Given the description of an element on the screen output the (x, y) to click on. 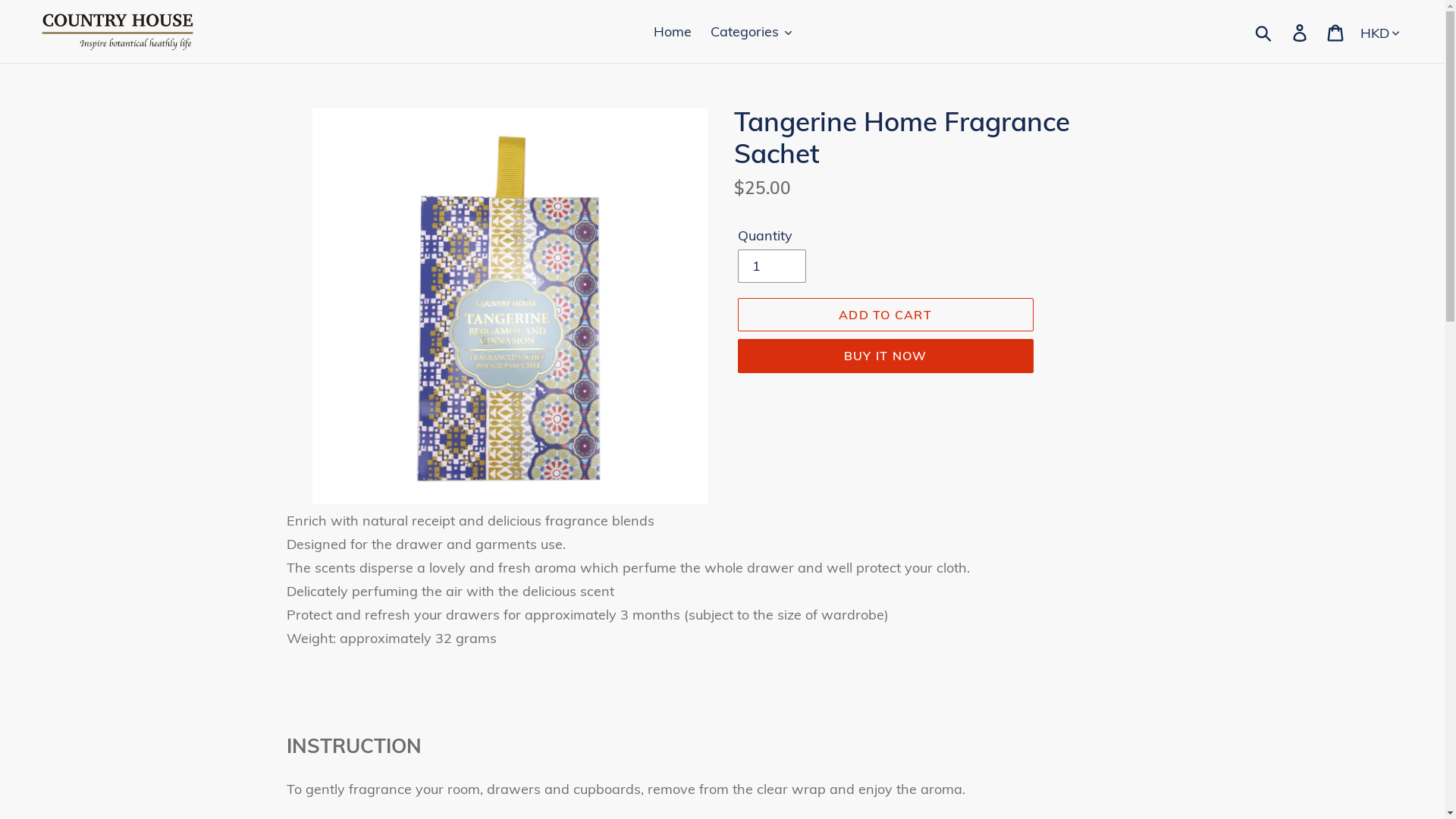
Home Element type: text (672, 30)
Cart Element type: text (1336, 31)
ADD TO CART Element type: text (884, 314)
Submit Element type: text (1264, 31)
Log in Element type: text (1300, 31)
BUY IT NOW Element type: text (884, 355)
